Given the description of an element on the screen output the (x, y) to click on. 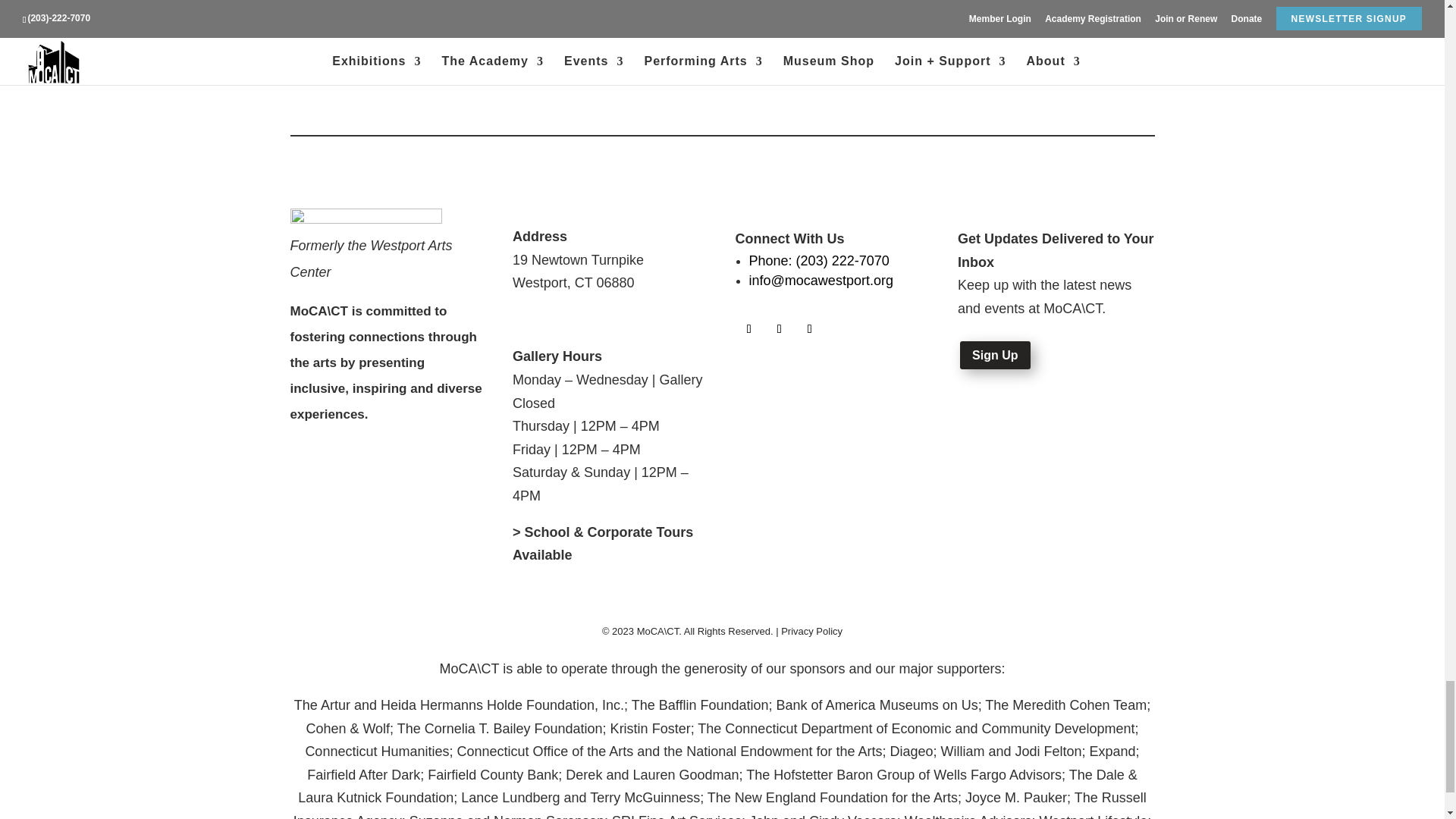
Follow on Instagram (779, 328)
Follow on Youtube (809, 328)
Follow on Facebook (748, 328)
